Given the description of an element on the screen output the (x, y) to click on. 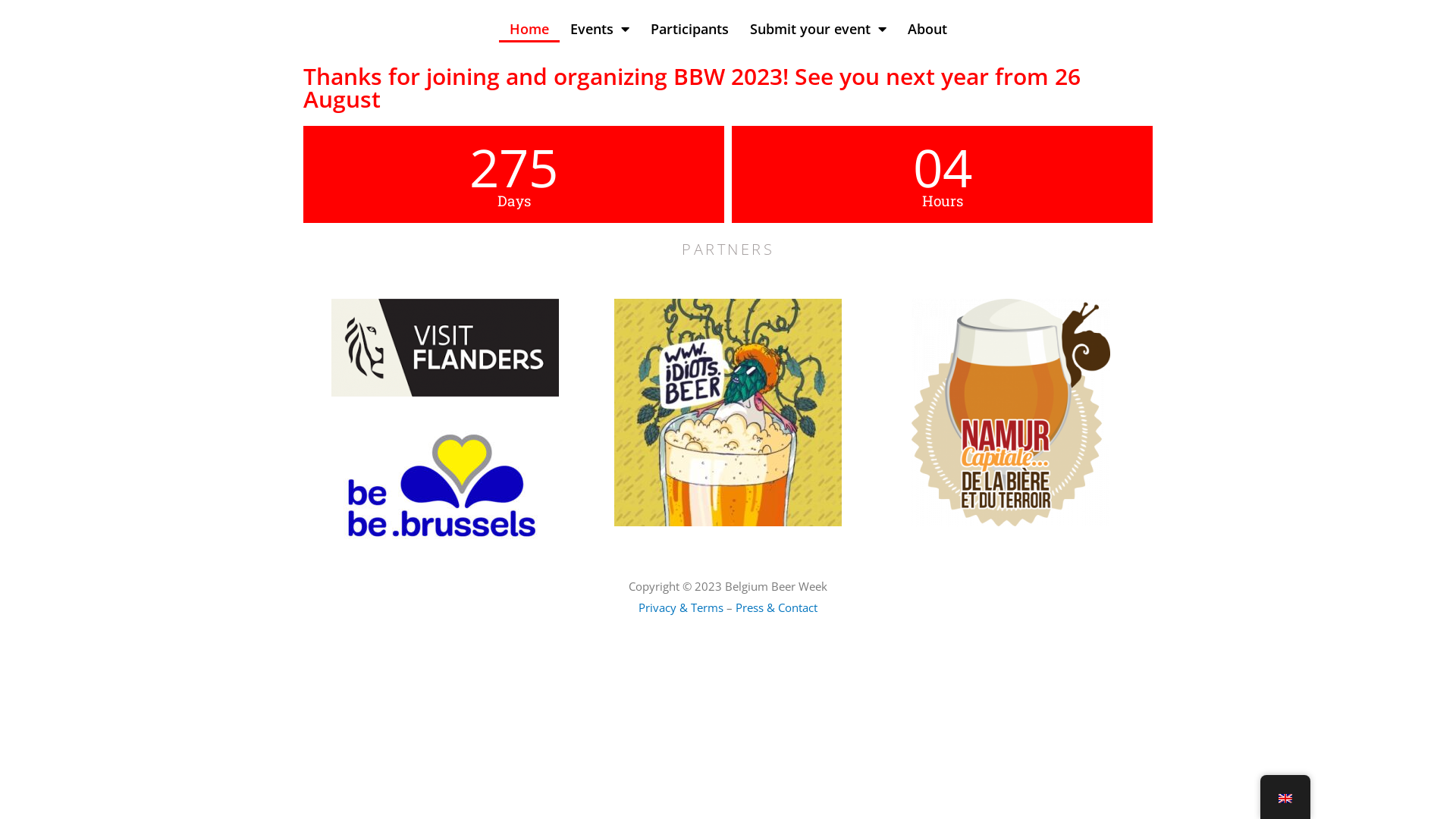
English (UK) Element type: hover (1285, 798)
Privacy & Terms Element type: text (680, 607)
Submit your event Element type: text (817, 28)
Participants Element type: text (689, 28)
Home Element type: text (528, 28)
Press & Contact Element type: text (776, 607)
Events Element type: text (599, 28)
About Element type: text (926, 28)
